Given the description of an element on the screen output the (x, y) to click on. 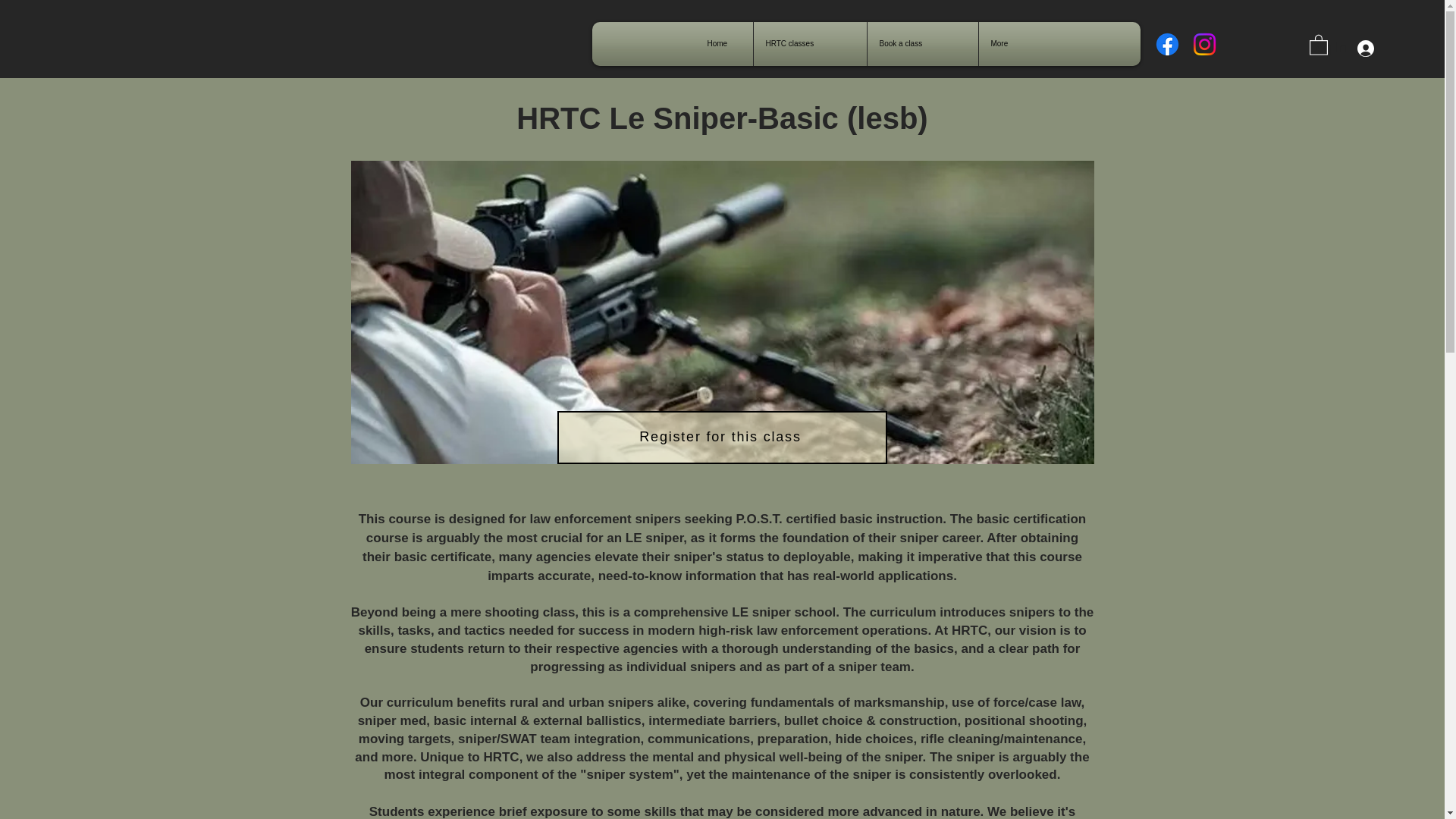
HRTC classes (810, 44)
Log In (1341, 48)
Home (723, 44)
Register for this class (721, 437)
Book a class (922, 44)
